Given the description of an element on the screen output the (x, y) to click on. 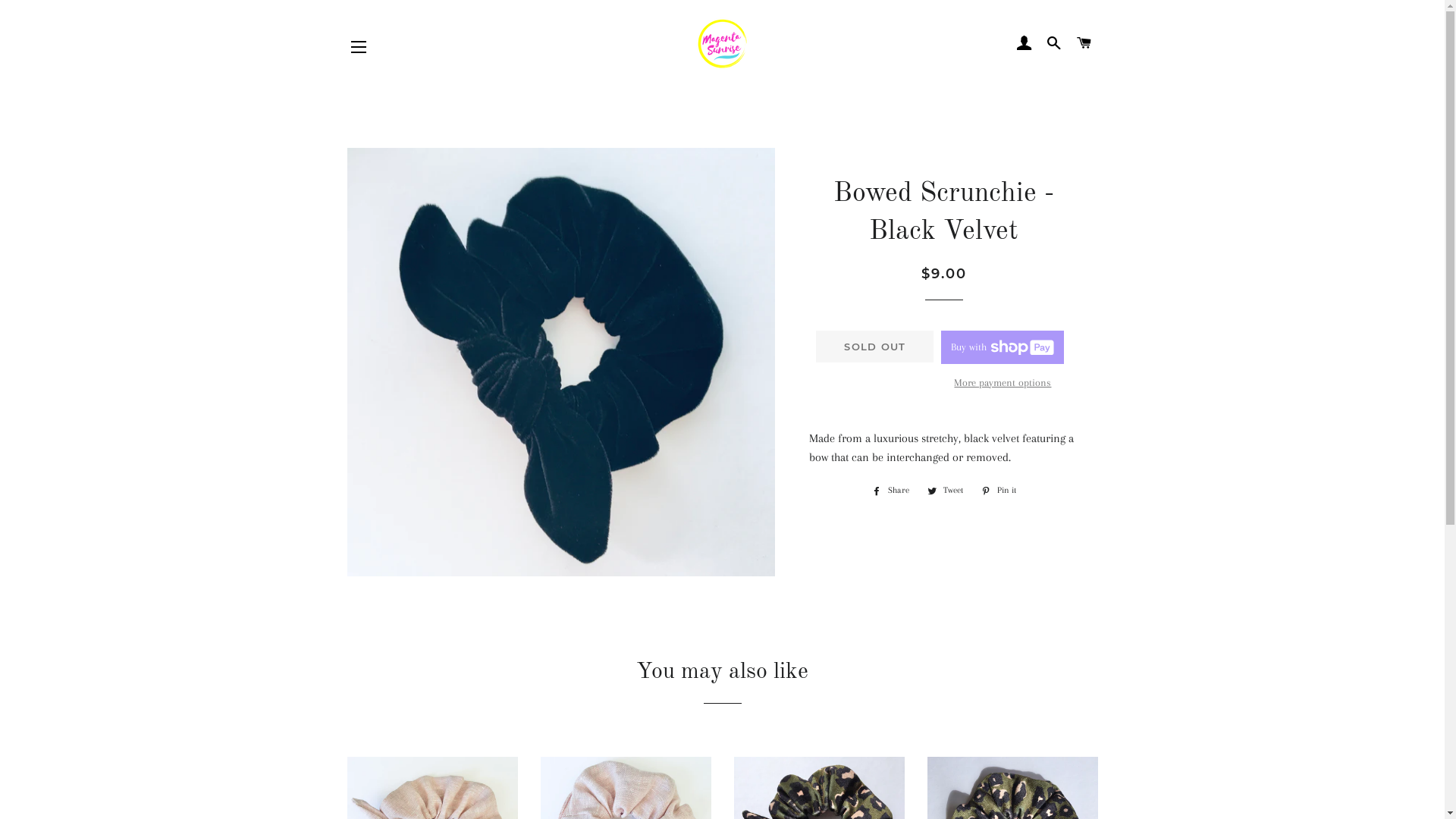
SOLD OUT Element type: text (874, 346)
Share
Share on Facebook Element type: text (890, 490)
CART Element type: text (1083, 42)
More payment options Element type: text (1002, 382)
Tweet
Tweet on Twitter Element type: text (944, 490)
SEARCH Element type: text (1054, 42)
LOG IN Element type: text (1023, 42)
SITE NAVIGATION Element type: text (358, 46)
Pin it
Pin on Pinterest Element type: text (998, 490)
